Given the description of an element on the screen output the (x, y) to click on. 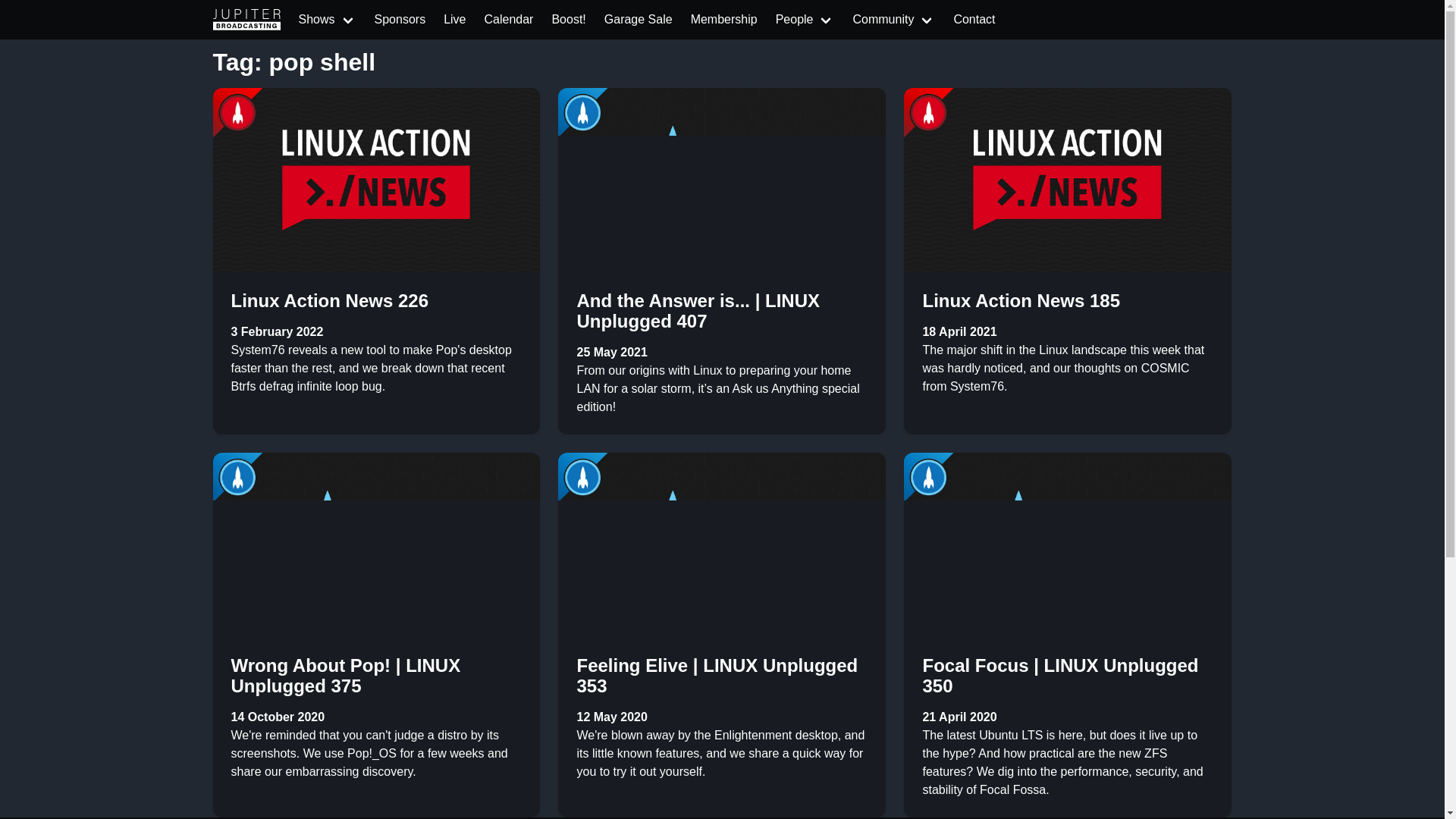
People (805, 19)
Boost! (567, 19)
Garage Sale (638, 19)
Shows (327, 19)
Sponsors (400, 19)
Live (453, 19)
Calendar (507, 19)
Community (893, 19)
Membership (724, 19)
